Given the description of an element on the screen output the (x, y) to click on. 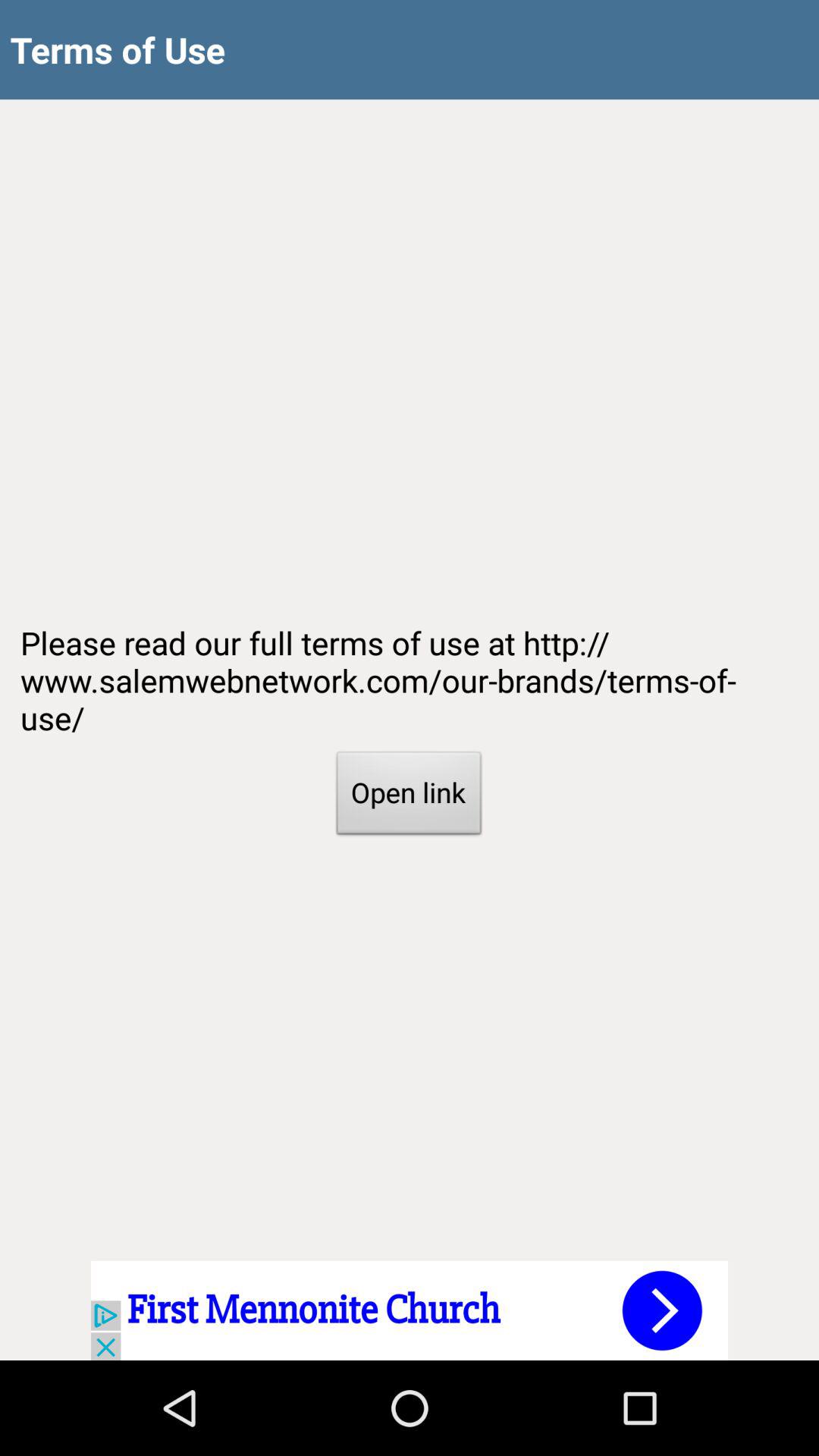
advertising area (409, 1310)
